Given the description of an element on the screen output the (x, y) to click on. 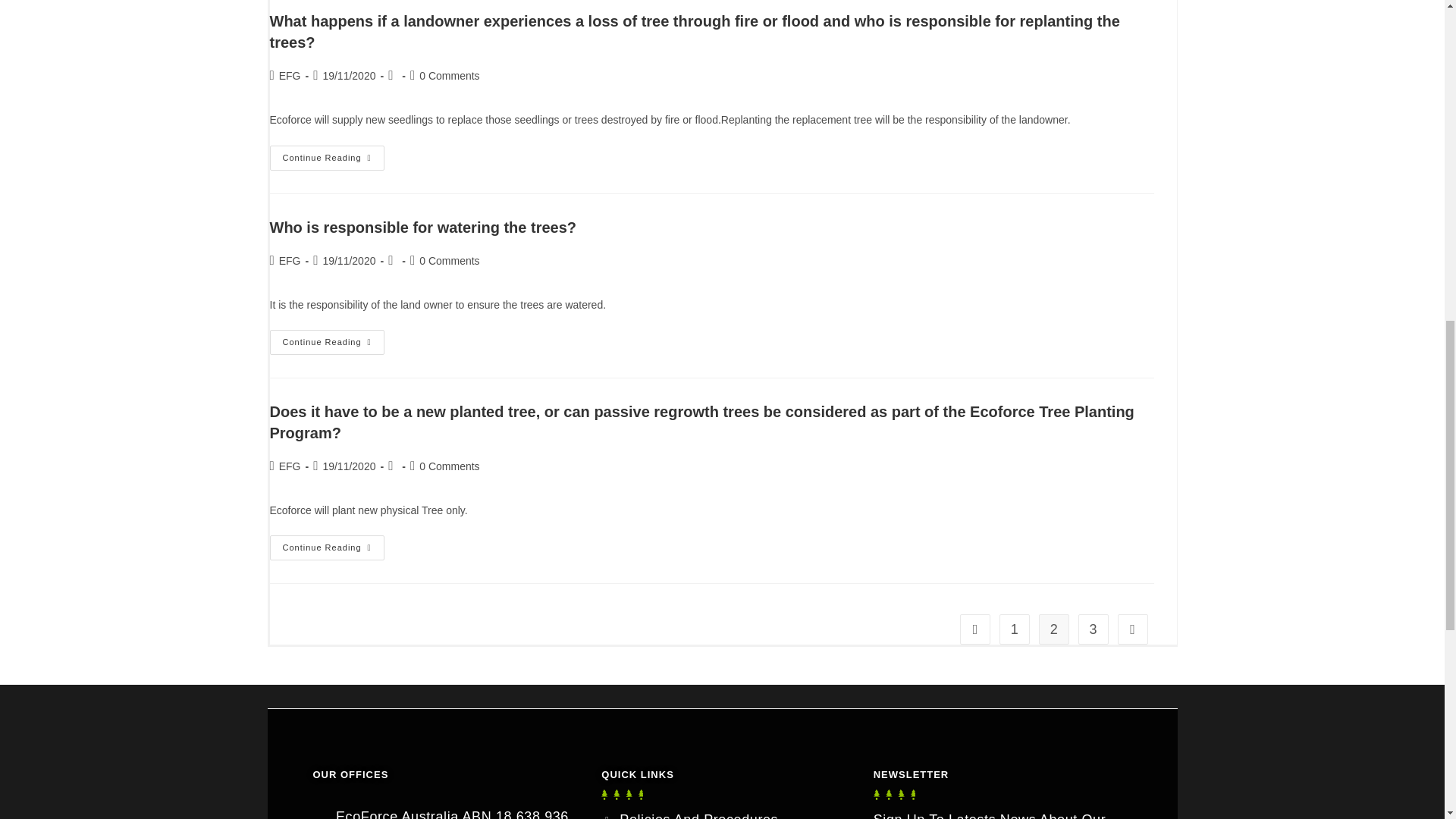
Posts by EFG (290, 260)
Posts by EFG (290, 466)
Posts by EFG (290, 75)
